Given the description of an element on the screen output the (x, y) to click on. 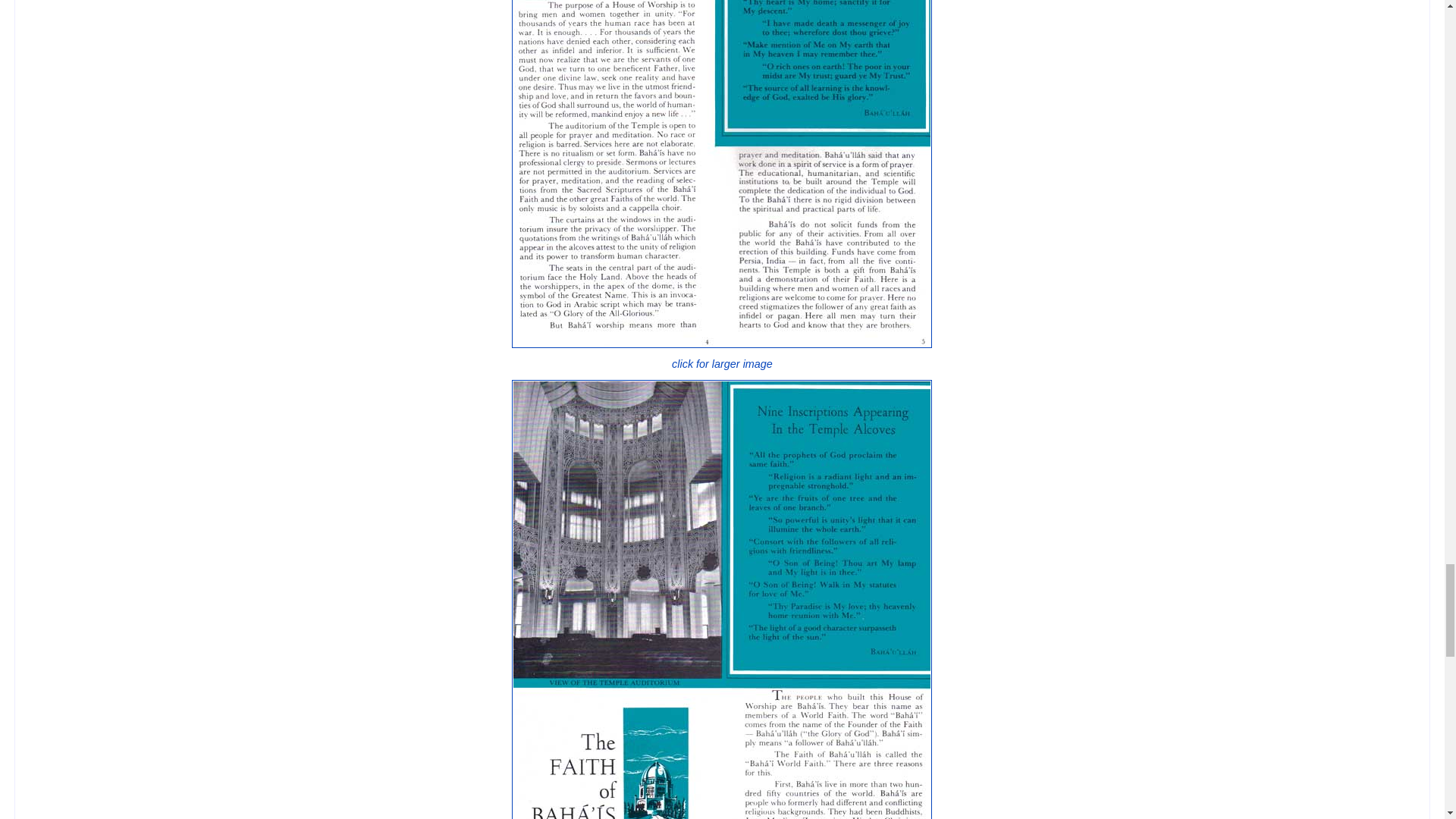
click for larger image (721, 356)
